Given the description of an element on the screen output the (x, y) to click on. 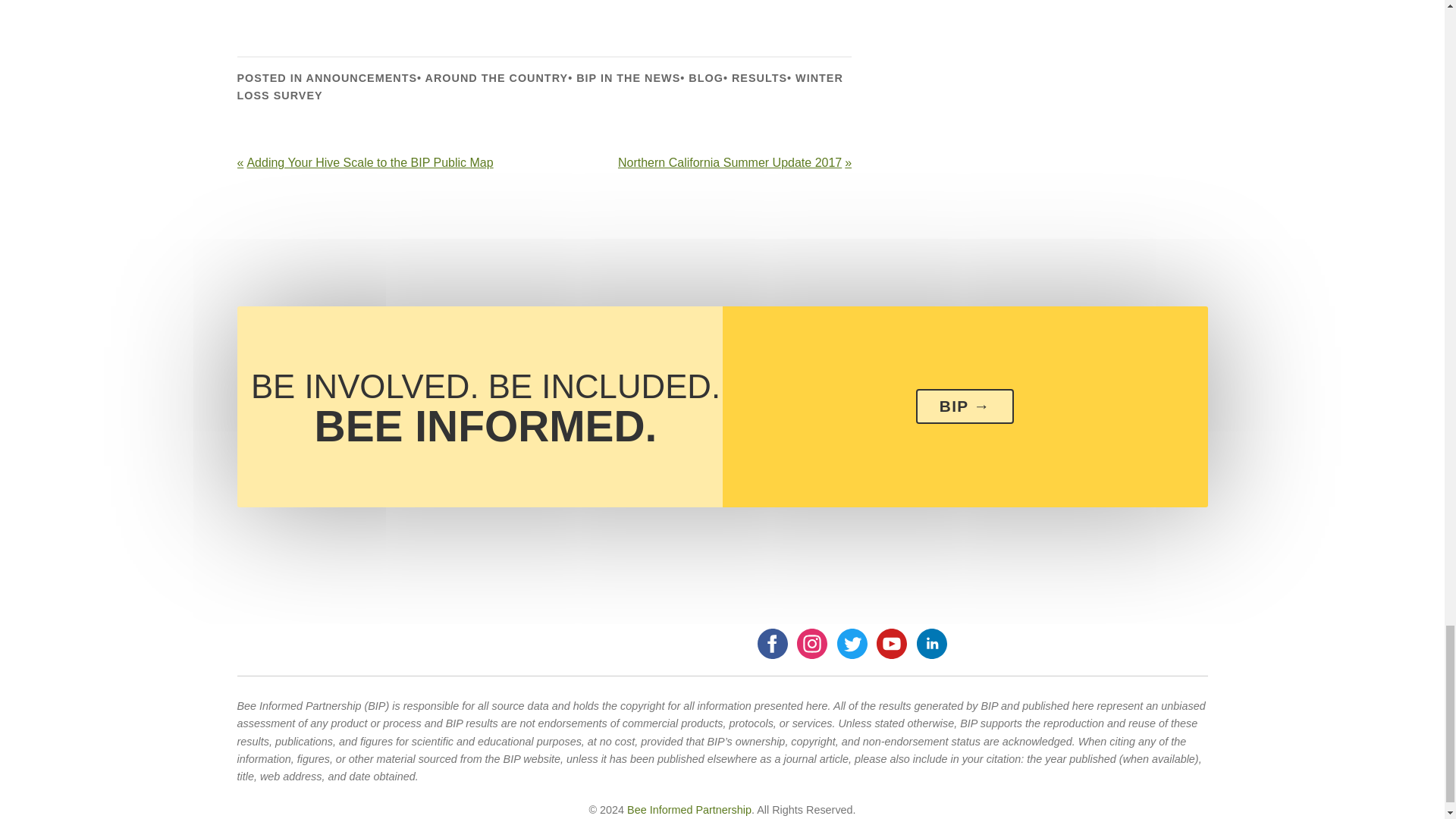
AROUND THE COUNTRY (497, 78)
Share on Linkedin (415, 7)
Pin it with Pinterest (376, 7)
Share on Twitter (296, 7)
ANNOUNCEMENTS (361, 78)
WINTER LOSS SURVEY (539, 86)
BIP IN THE NEWS (627, 78)
BLOG (705, 78)
Share on Facebook (254, 7)
Share by email (456, 7)
RESULTS (759, 78)
Adding Your Hive Scale to the BIP Public Map (386, 162)
Share on Reddit (335, 7)
